Given the description of an element on the screen output the (x, y) to click on. 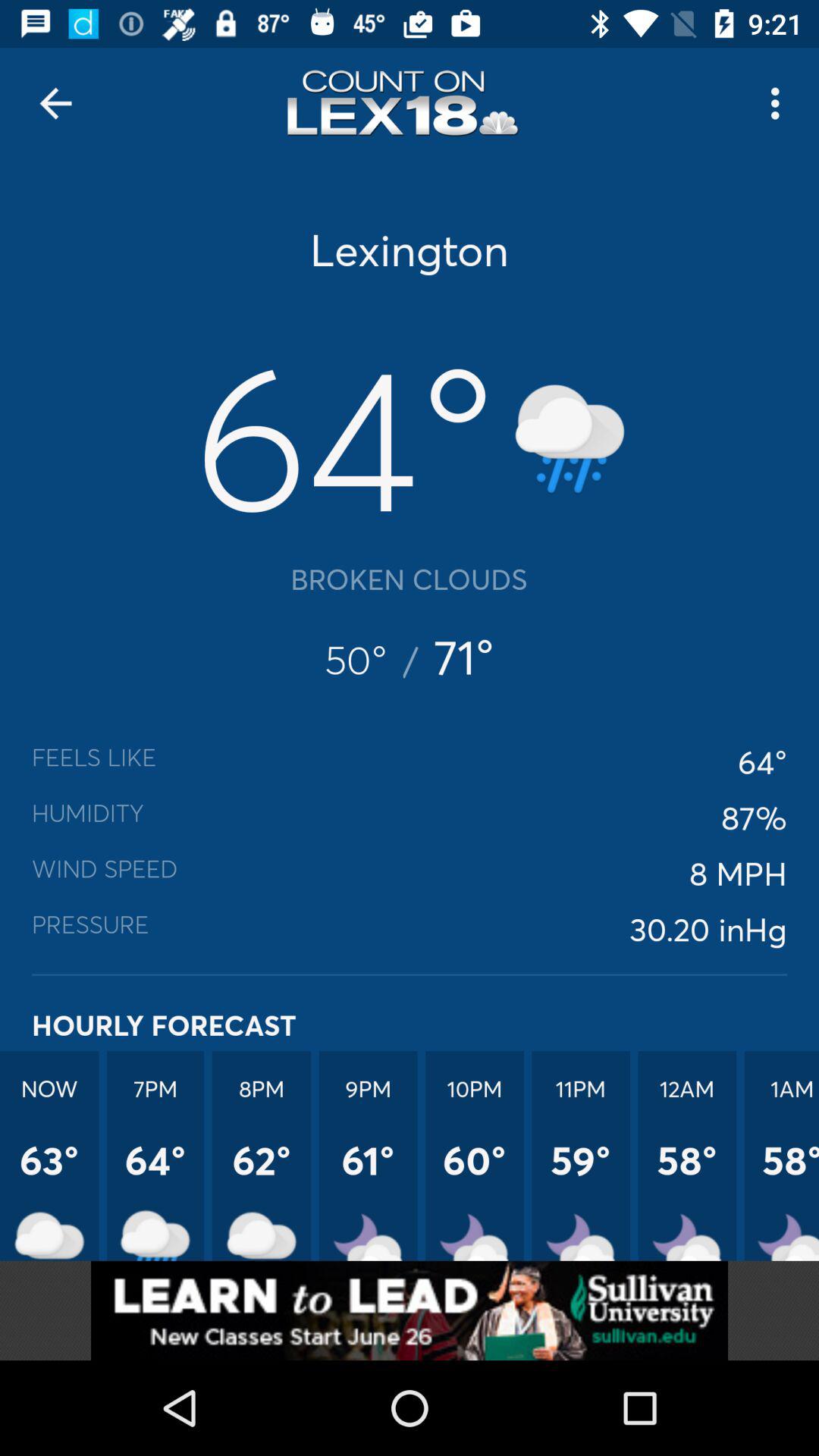
view advertisement (409, 1310)
